Given the description of an element on the screen output the (x, y) to click on. 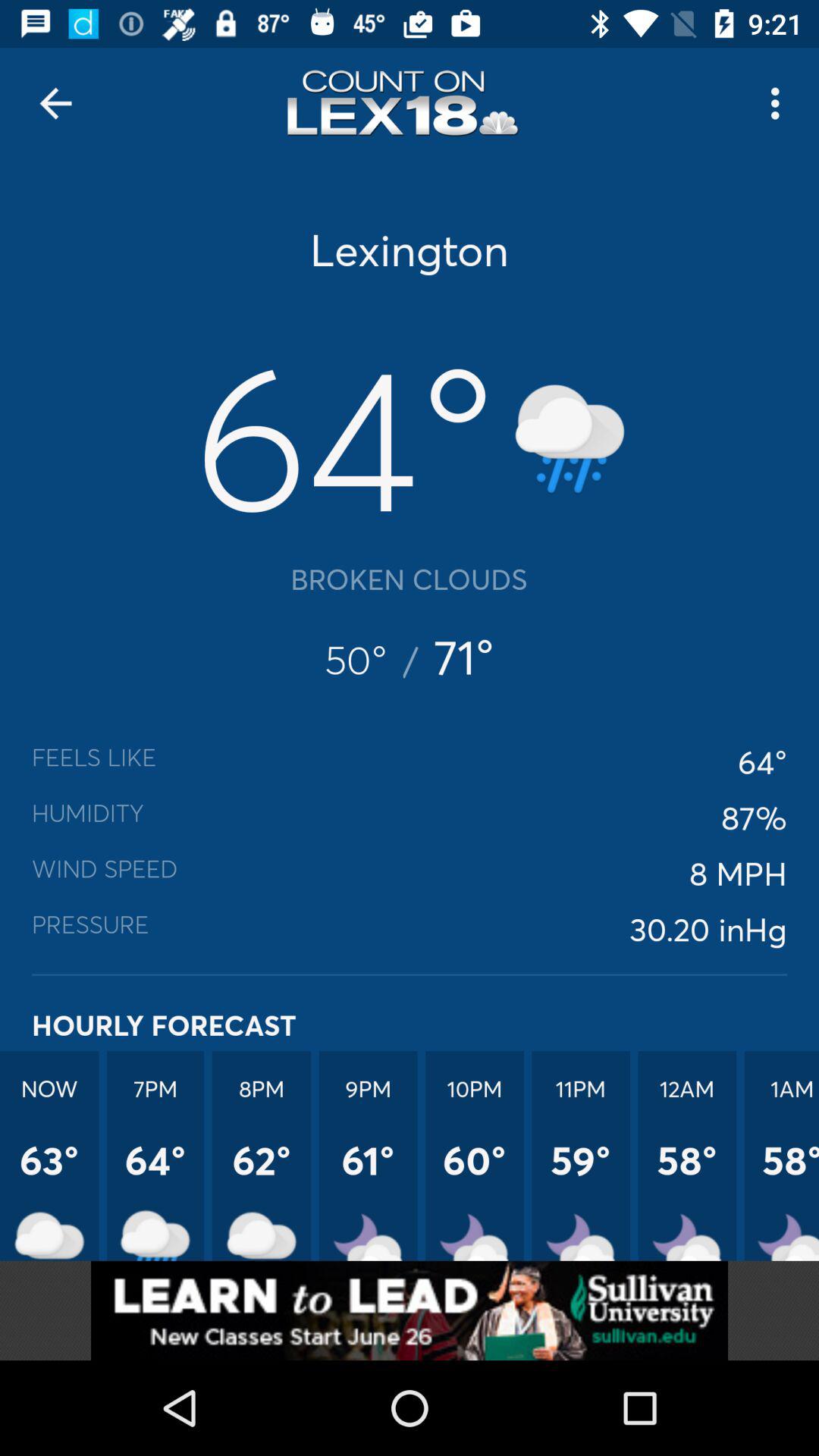
view advertisement (409, 1310)
